Given the description of an element on the screen output the (x, y) to click on. 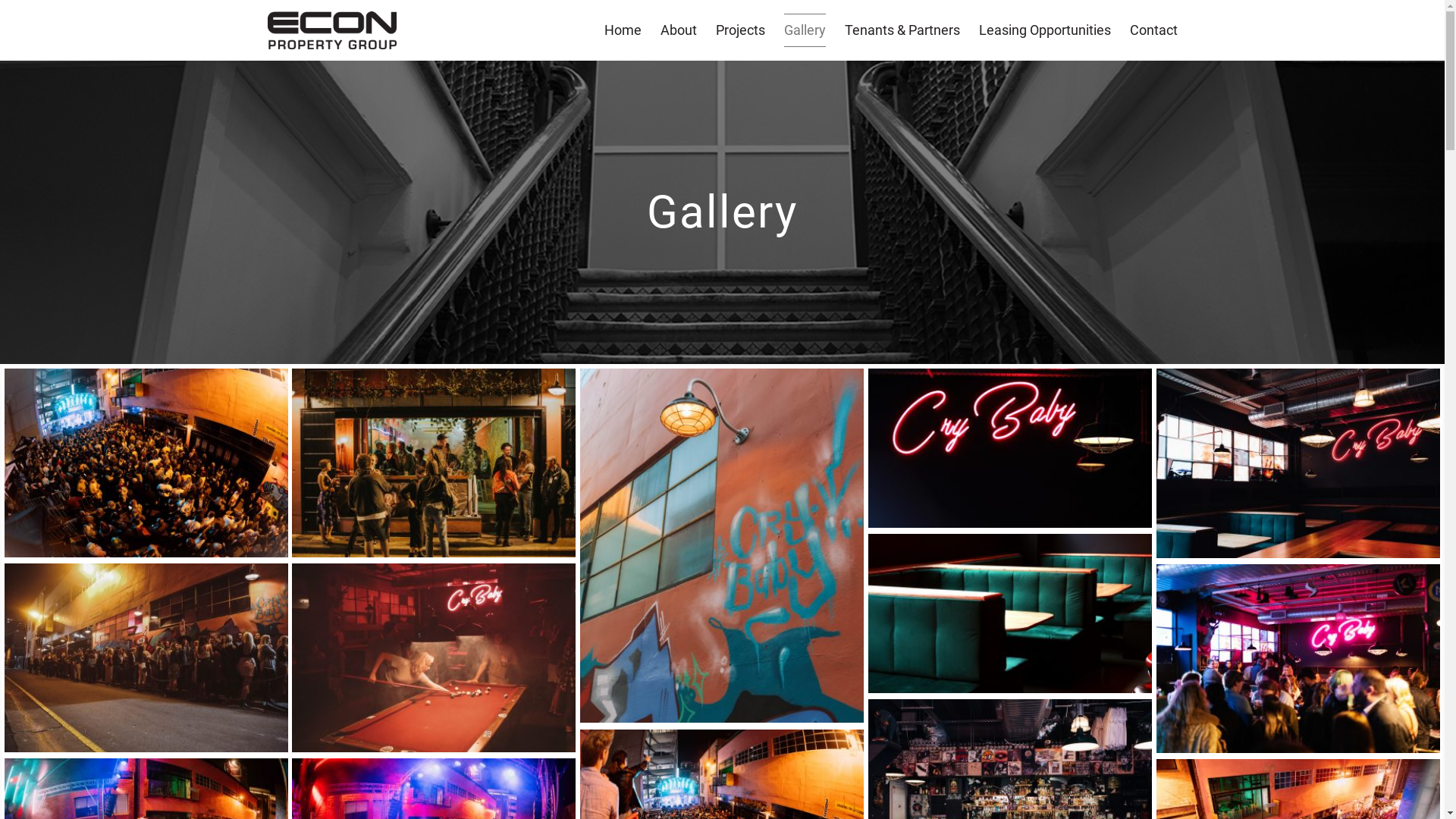
Gallery Element type: text (804, 30)
Leasing Opportunities Element type: text (1044, 30)
Tenants & Partners Element type: text (902, 30)
About Element type: text (677, 30)
Contact Element type: text (1153, 30)
Home Element type: text (621, 30)
Projects Element type: text (740, 30)
